Given the description of an element on the screen output the (x, y) to click on. 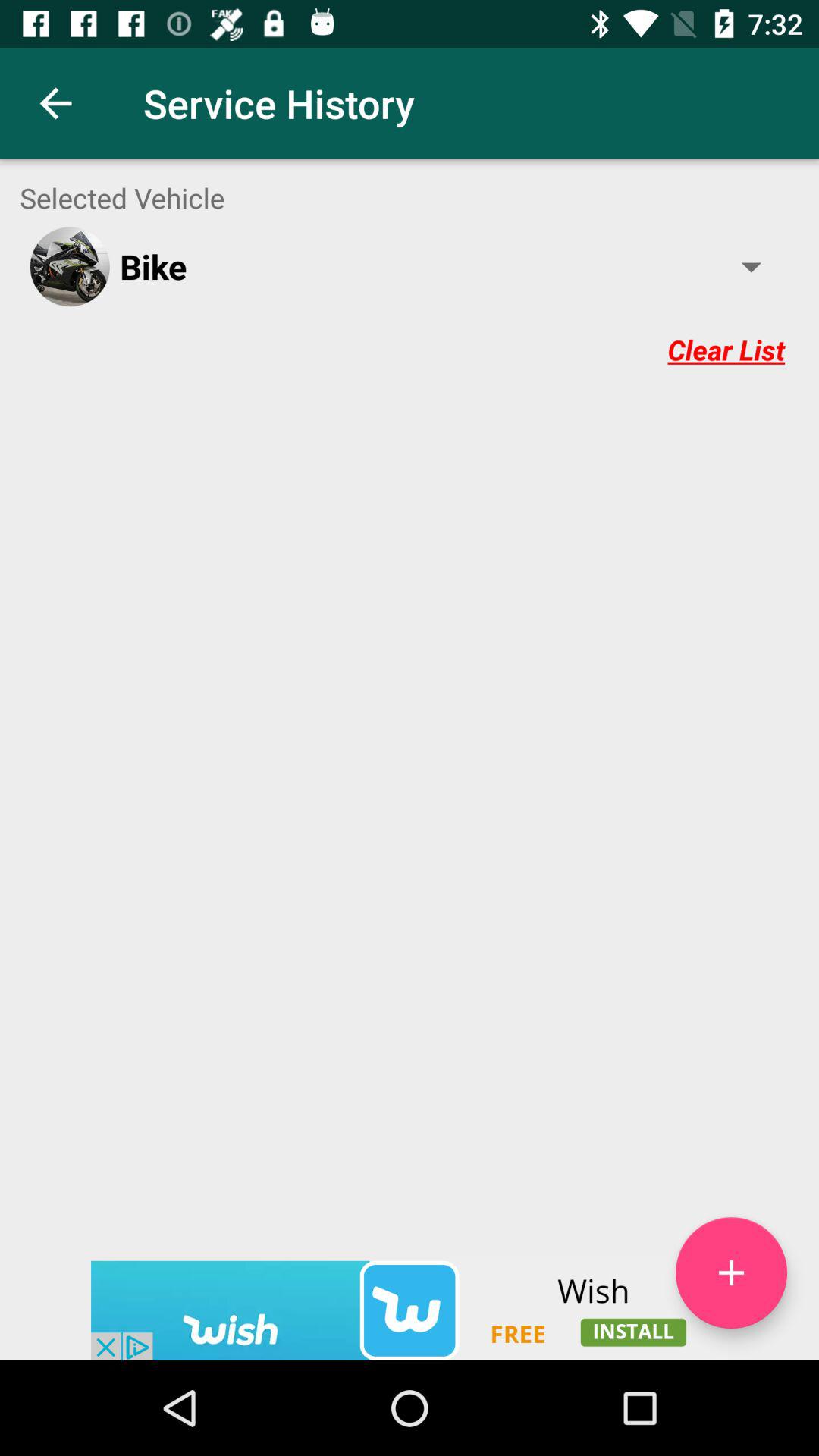
add the option (731, 1272)
